Given the description of an element on the screen output the (x, y) to click on. 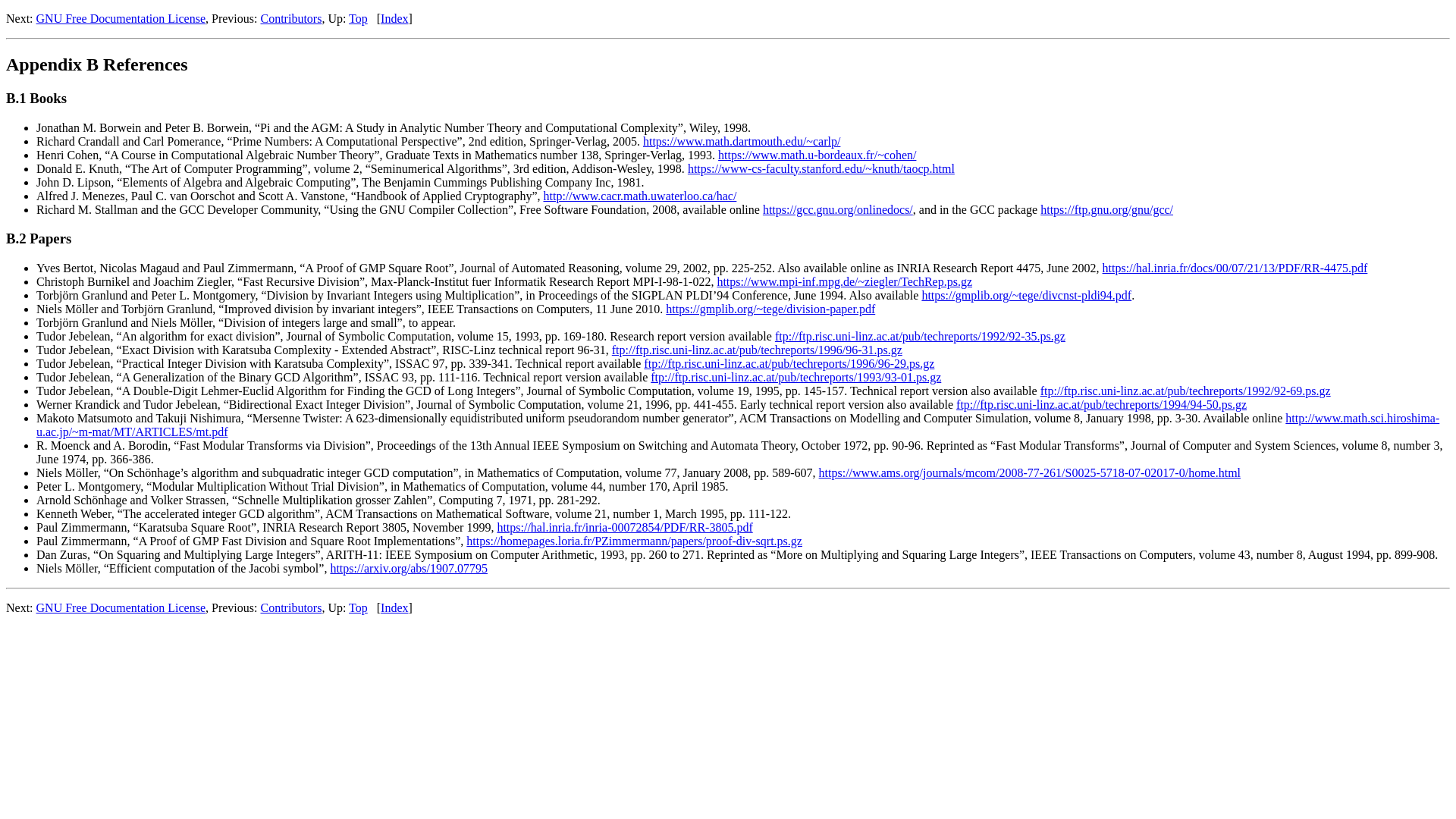
Contributors Element type: text (290, 607)
GNU Free Documentation License Element type: text (120, 607)
https://hal.inria.fr/inria-00072854/PDF/RR-3805.pdf Element type: text (624, 526)
https://gmplib.org/~tege/division-paper.pdf Element type: text (770, 308)
Top Element type: text (357, 18)
Index Element type: text (393, 607)
Contributors Element type: text (290, 18)
Index Element type: text (393, 18)
https://gmplib.org/~tege/divcnst-pldi94.pdf Element type: text (1026, 294)
https://ftp.gnu.org/gnu/gcc/ Element type: text (1106, 209)
https://hal.inria.fr/docs/00/07/21/13/PDF/RR-4475.pdf Element type: text (1235, 267)
https://www-cs-faculty.stanford.edu/~knuth/taocp.html Element type: text (820, 168)
https://arxiv.org/abs/1907.07795 Element type: text (408, 567)
Top Element type: text (357, 607)
https://gcc.gnu.org/onlinedocs/ Element type: text (837, 209)
https://www.math.u-bordeaux.fr/~cohen/ Element type: text (817, 154)
https://www.mpi-inf.mpg.de/~ziegler/TechRep.ps.gz Element type: text (844, 281)
https://www.math.dartmouth.edu/~carlp/ Element type: text (741, 140)
http://www.cacr.math.uwaterloo.ca/hac/ Element type: text (639, 195)
GNU Free Documentation License Element type: text (120, 18)
